Given the description of an element on the screen output the (x, y) to click on. 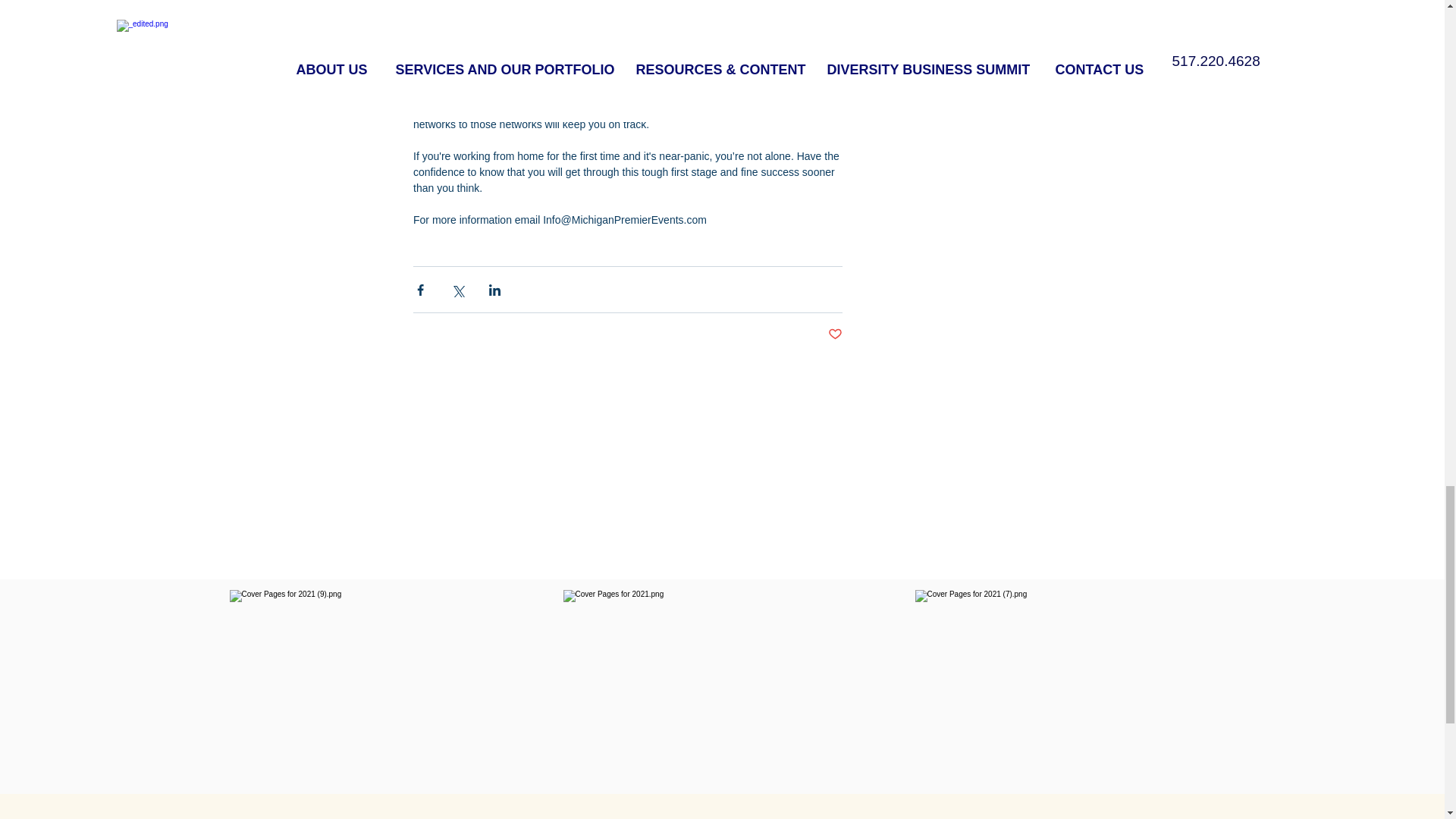
Post not marked as liked (835, 334)
